Given the description of an element on the screen output the (x, y) to click on. 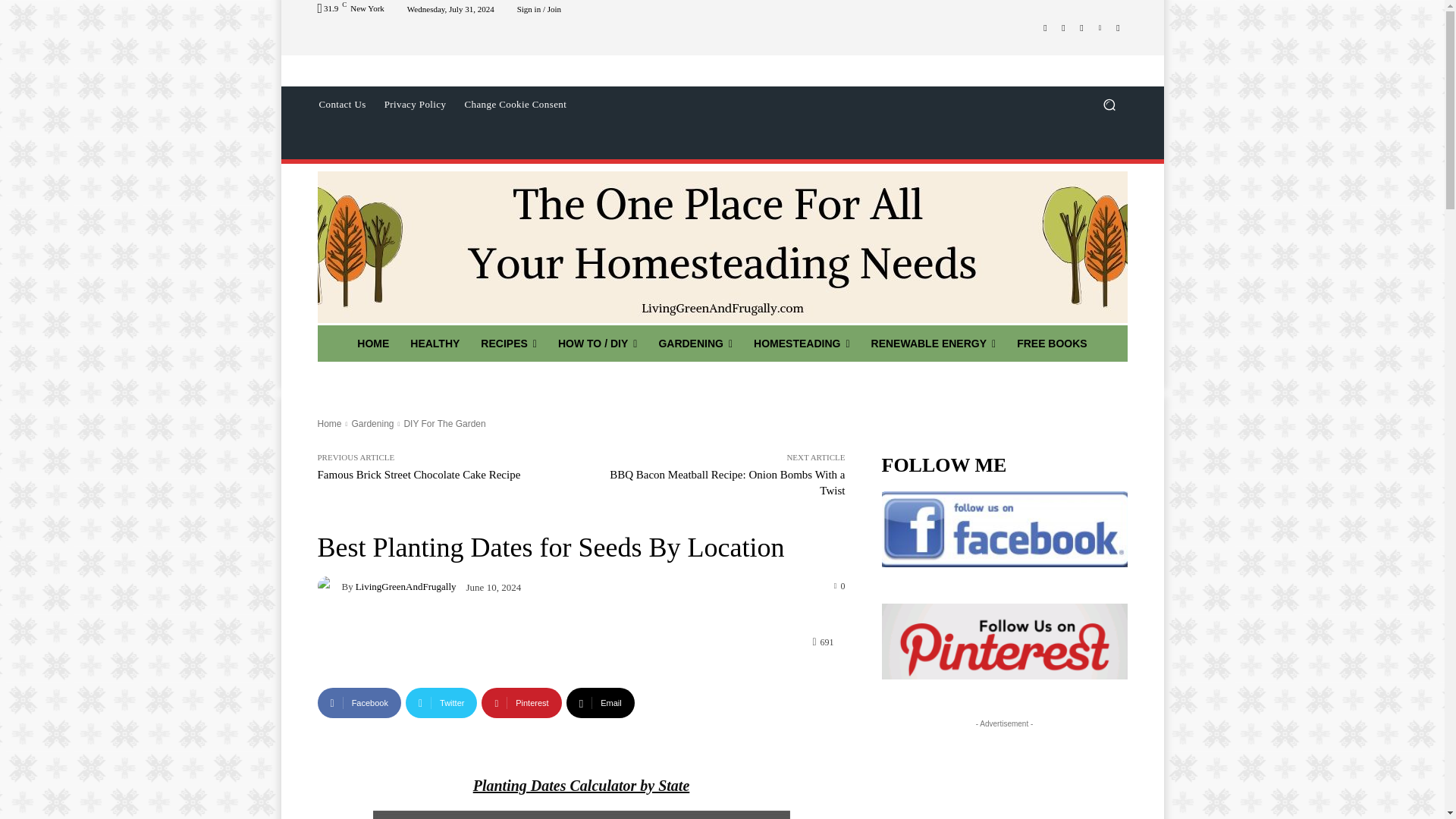
View all posts in DIY For The Garden (443, 423)
Youtube (1117, 27)
Instagram (1062, 27)
Twitter (441, 702)
Facebook (1044, 27)
Vimeo (1099, 27)
View all posts in Gardening (371, 423)
Facebook (358, 702)
LivingGreenAndFrugally (328, 586)
Twitter (1080, 27)
Pinterest (520, 702)
Contact Us (341, 104)
Privacy Policy (415, 104)
